Given the description of an element on the screen output the (x, y) to click on. 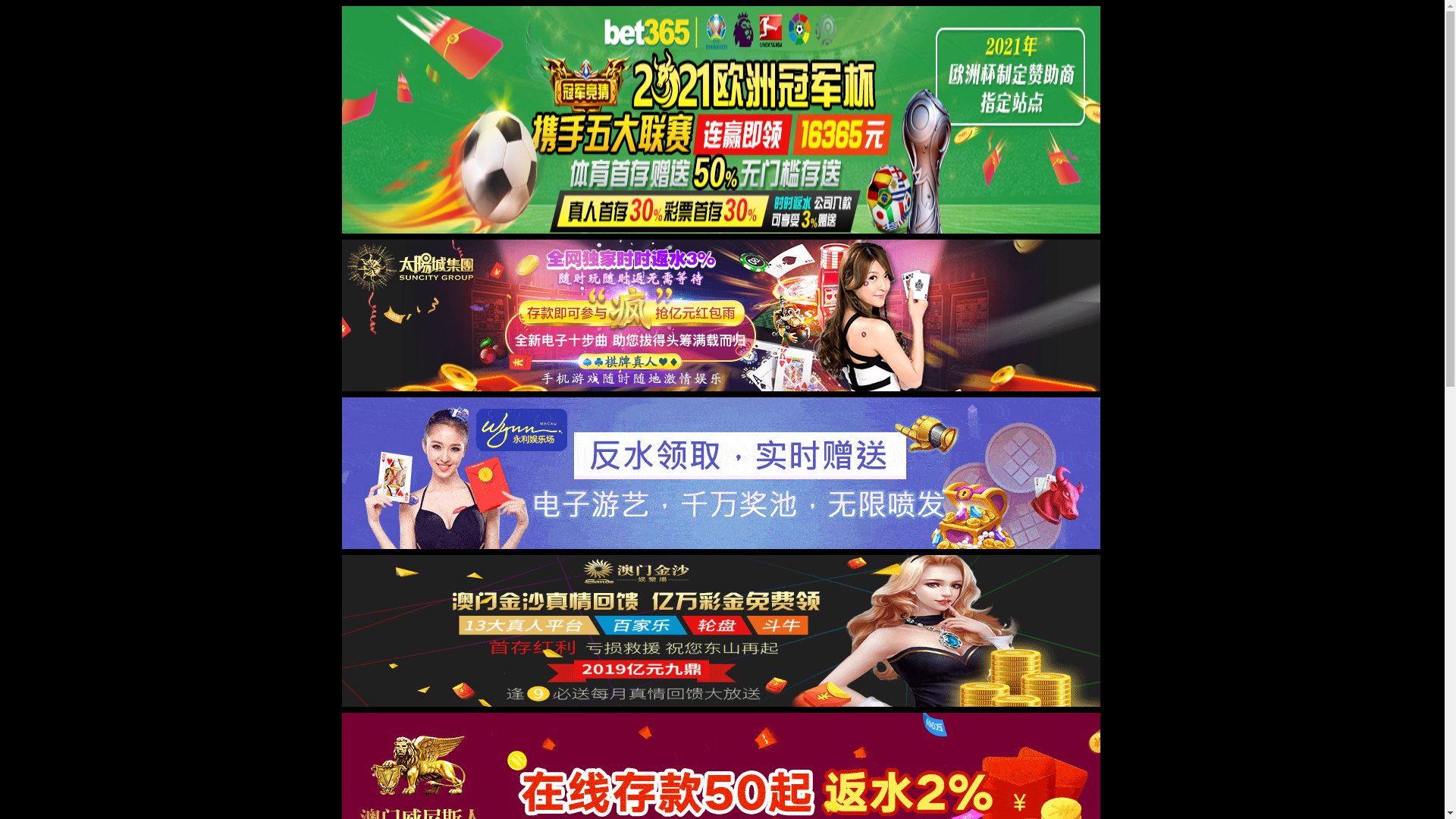
Skip to content Element type: text (36, 6)
600217231 Element type: hover (265, 446)
